Given the description of an element on the screen output the (x, y) to click on. 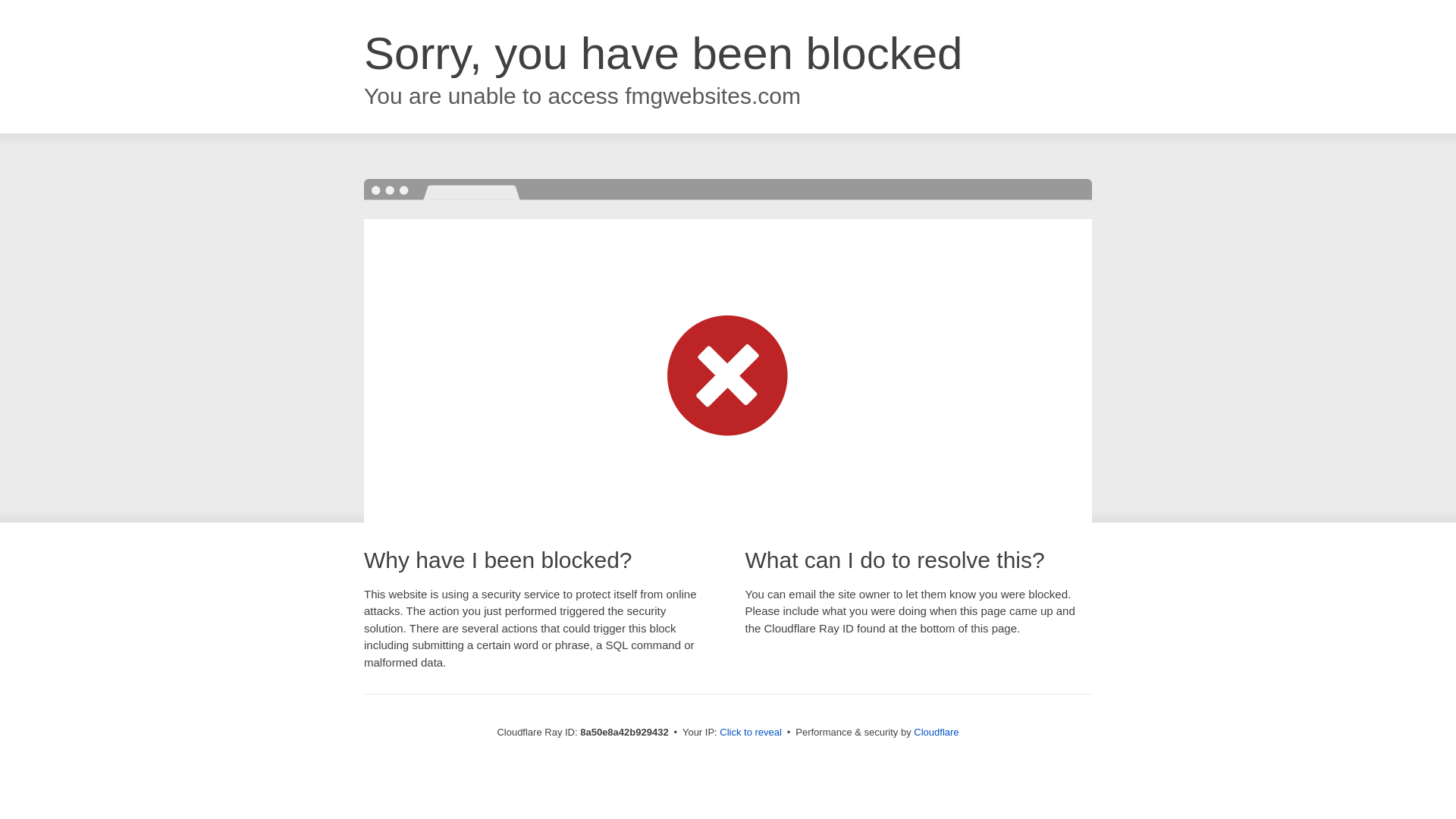
Cloudflare (936, 731)
Click to reveal (750, 732)
